Given the description of an element on the screen output the (x, y) to click on. 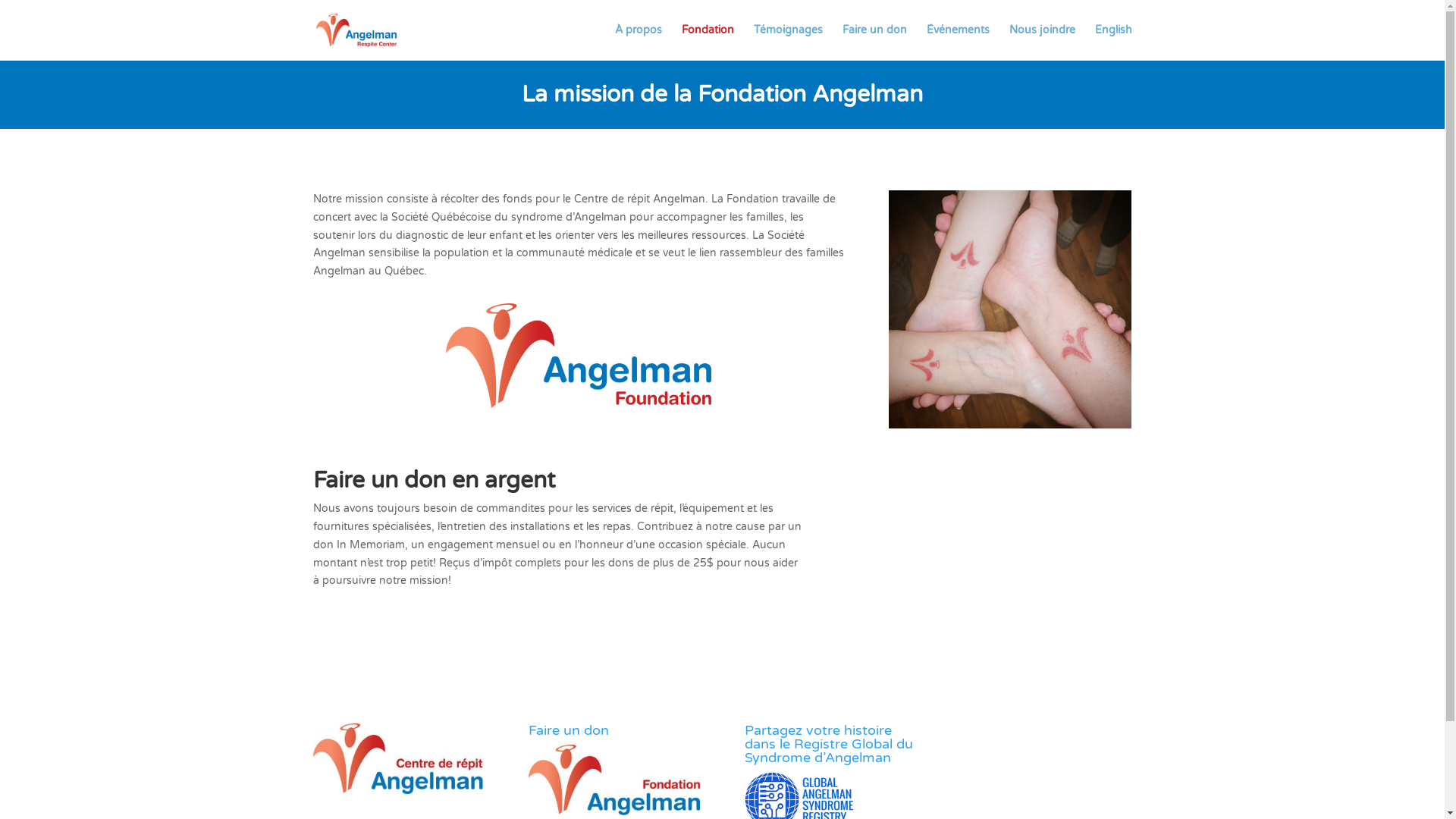
Tatoos Element type: hover (1009, 424)
Nous joindre Element type: text (1041, 42)
Faire un don Element type: text (873, 42)
Fondation Element type: text (706, 42)
English Element type: text (1113, 42)
